Given the description of an element on the screen output the (x, y) to click on. 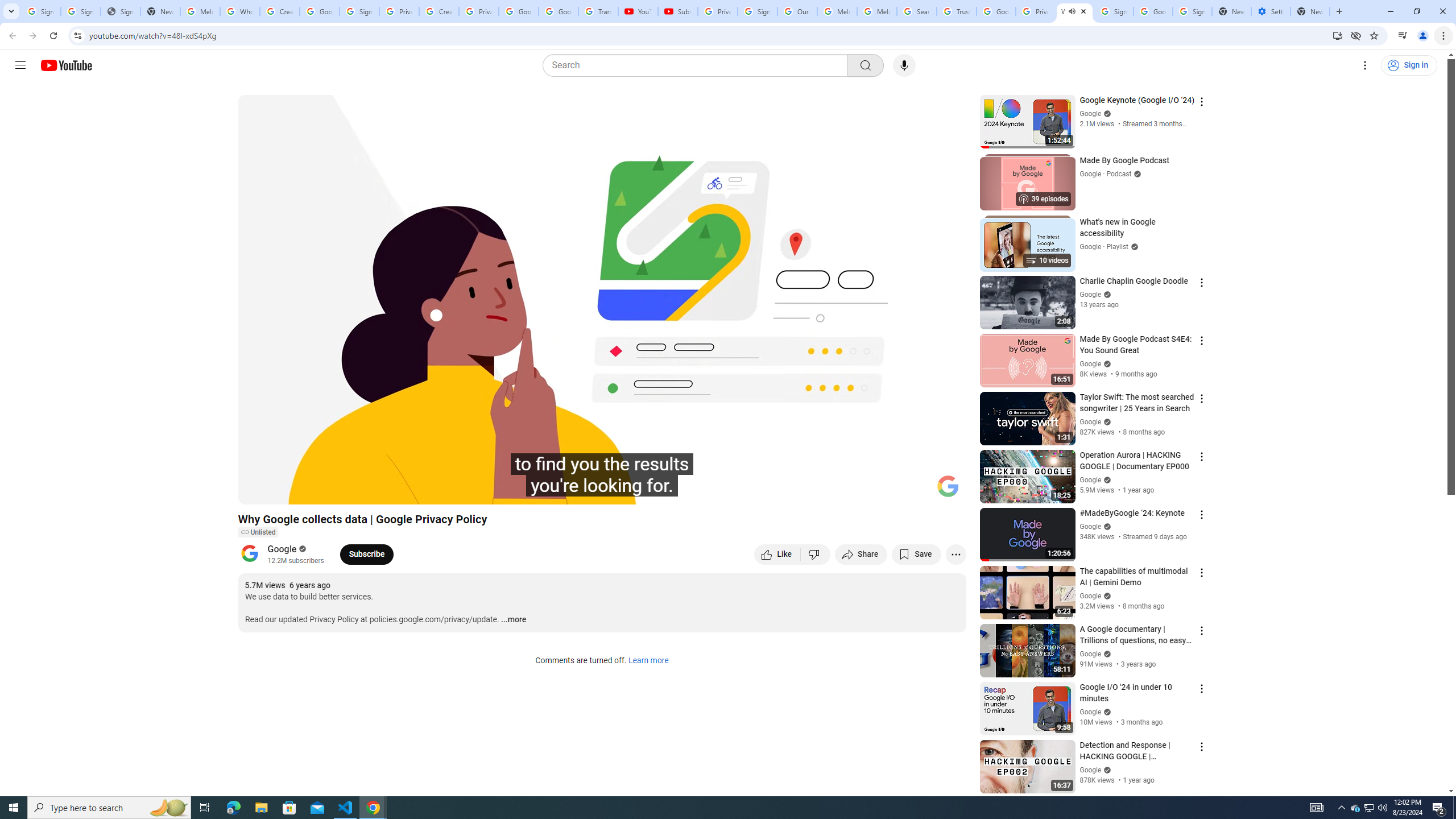
Subscribe to Google. (366, 554)
Sign in - Google Accounts (359, 11)
